Given the description of an element on the screen output the (x, y) to click on. 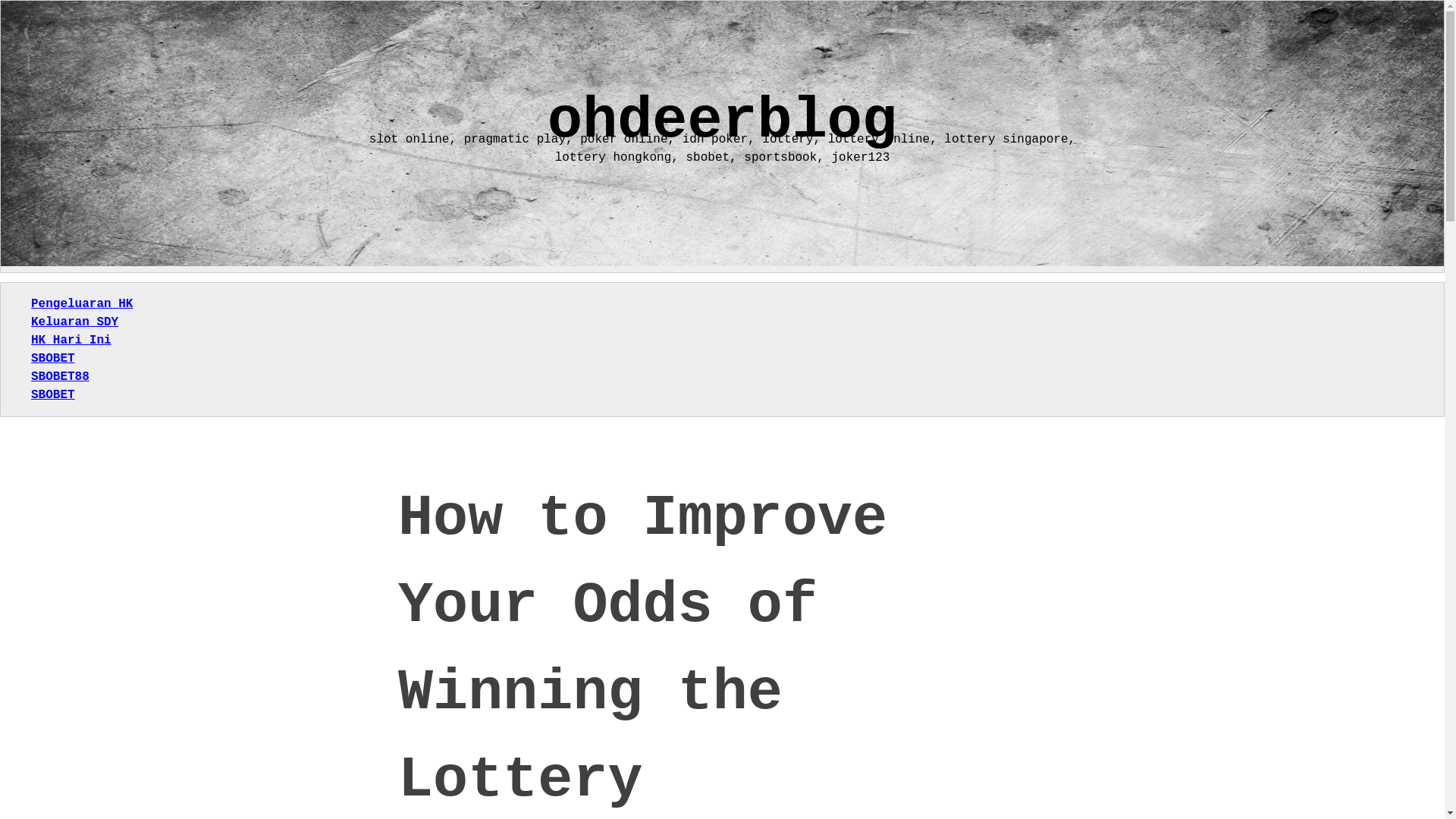
HK Hari Ini (71, 340)
SBOBET (52, 395)
Keluaran SDY (73, 322)
Pengeluaran HK (81, 304)
SBOBET (52, 358)
ohdeerblog (721, 120)
SBOBET88 (59, 377)
